Given the description of an element on the screen output the (x, y) to click on. 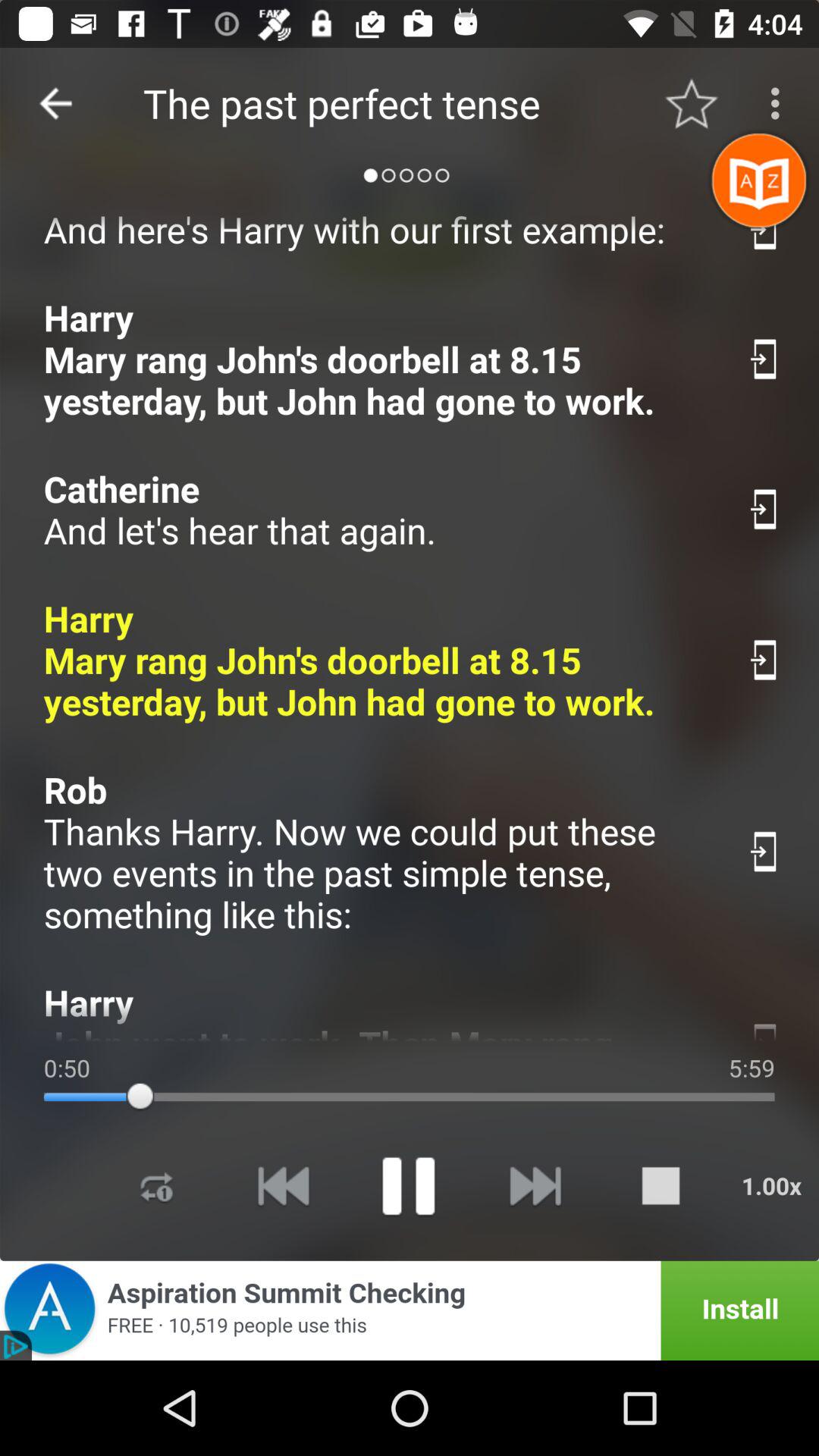
press the item above harry mary rang icon (379, 509)
